Given the description of an element on the screen output the (x, y) to click on. 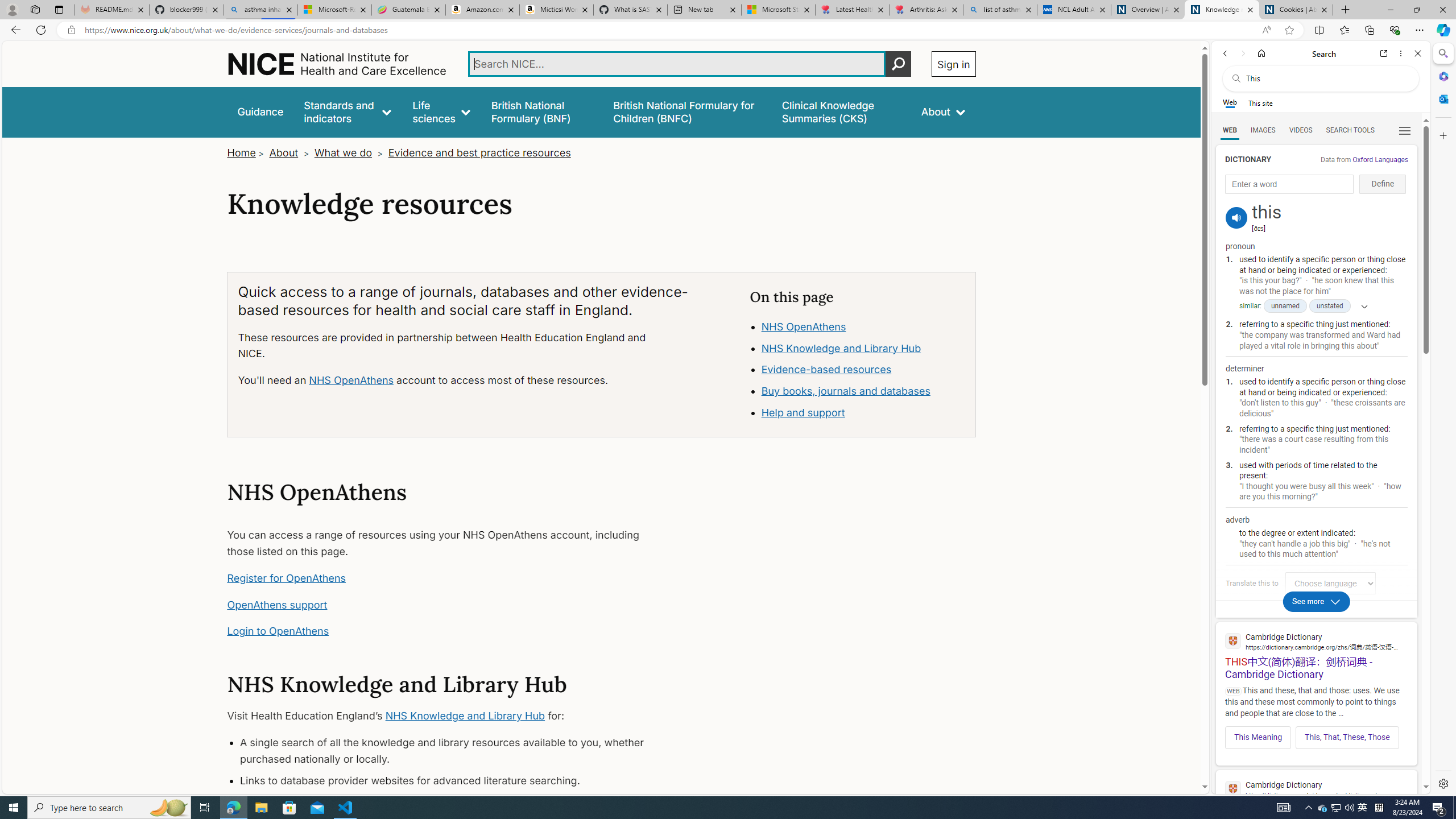
Buy books, journals and databases (863, 391)
Register for OpenAthens (286, 577)
Cookies | About | NICE (1295, 9)
Search Filter, Search Tools (1350, 129)
Oxford Languages (1379, 159)
Help and support (802, 413)
This Meaning (1258, 737)
